Given the description of an element on the screen output the (x, y) to click on. 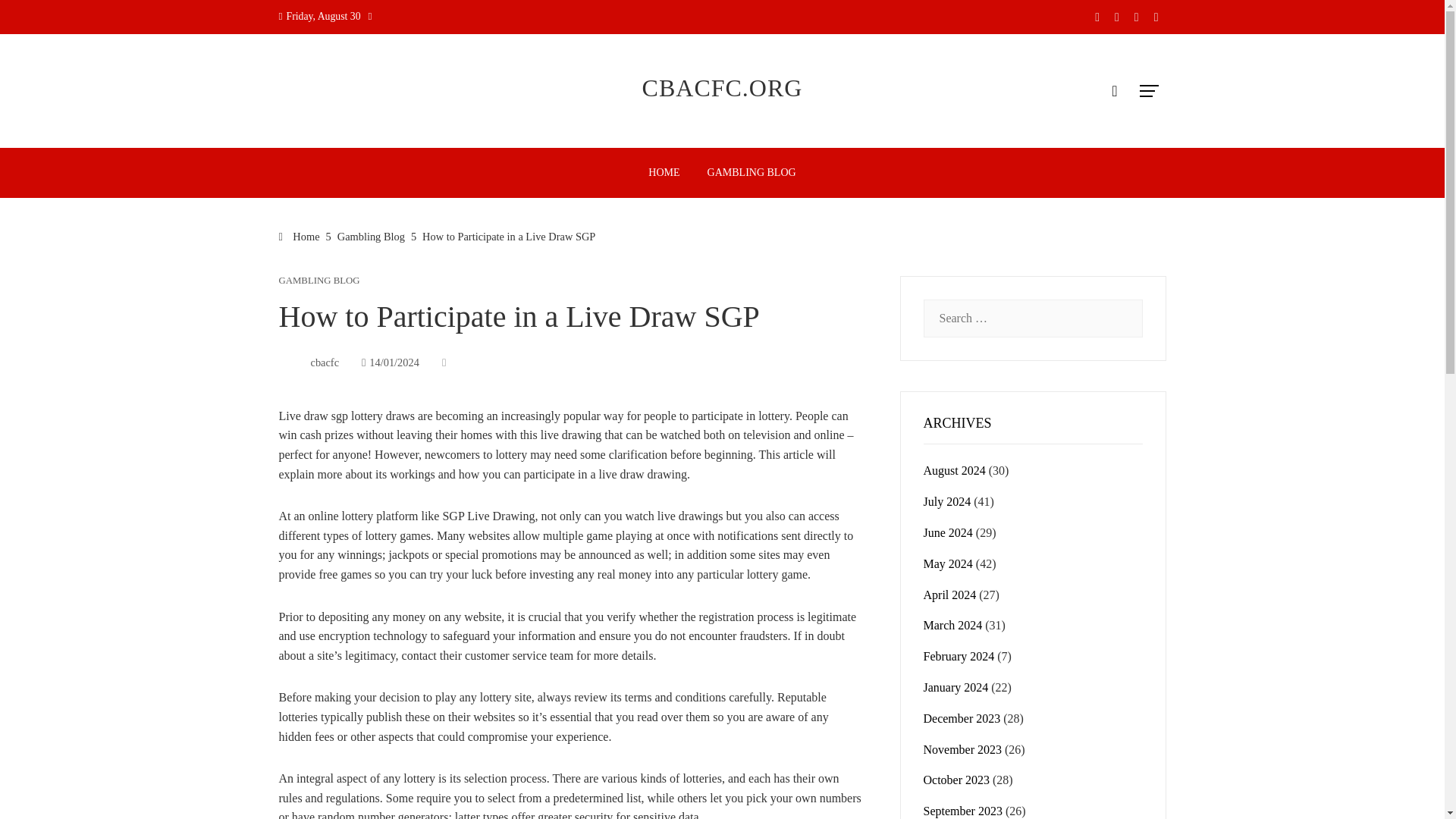
February 2024 (958, 656)
CBACFC.ORG (722, 87)
HOME (663, 173)
December 2023 (962, 717)
January 2024 (955, 686)
Gambling Blog (370, 236)
September 2023 (963, 810)
Search (35, 18)
July 2024 (947, 501)
August 2024 (954, 470)
